Given the description of an element on the screen output the (x, y) to click on. 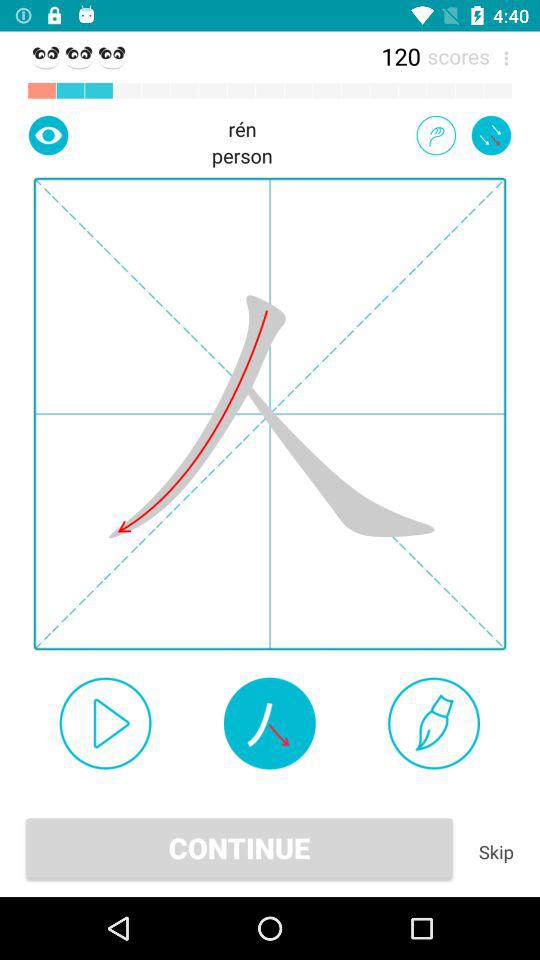
switch to brush mode (434, 723)
